Given the description of an element on the screen output the (x, y) to click on. 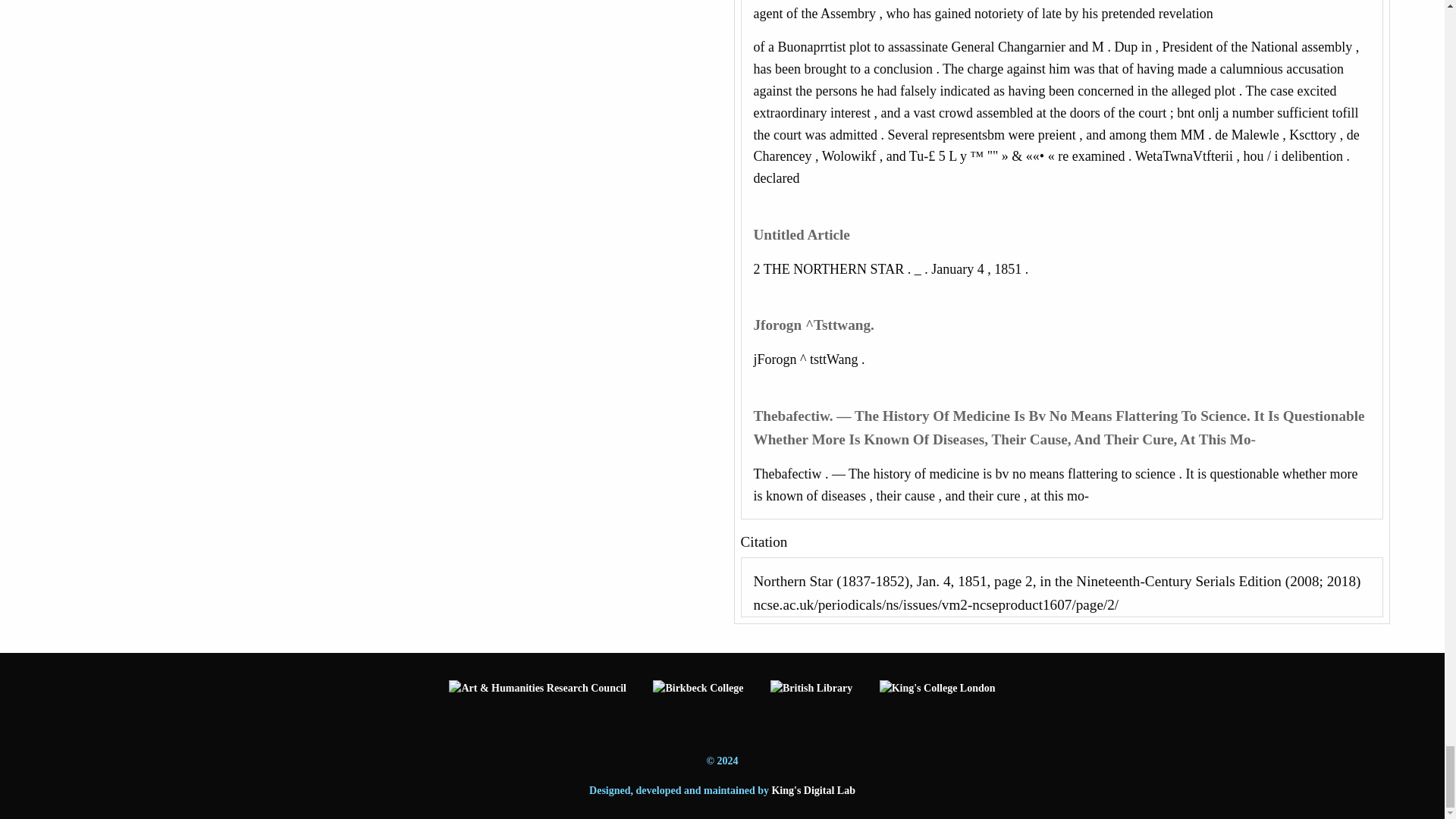
King's Digital Lab (812, 790)
King's College London (937, 704)
British Library (811, 704)
Birkbeck College (697, 704)
